Given the description of an element on the screen output the (x, y) to click on. 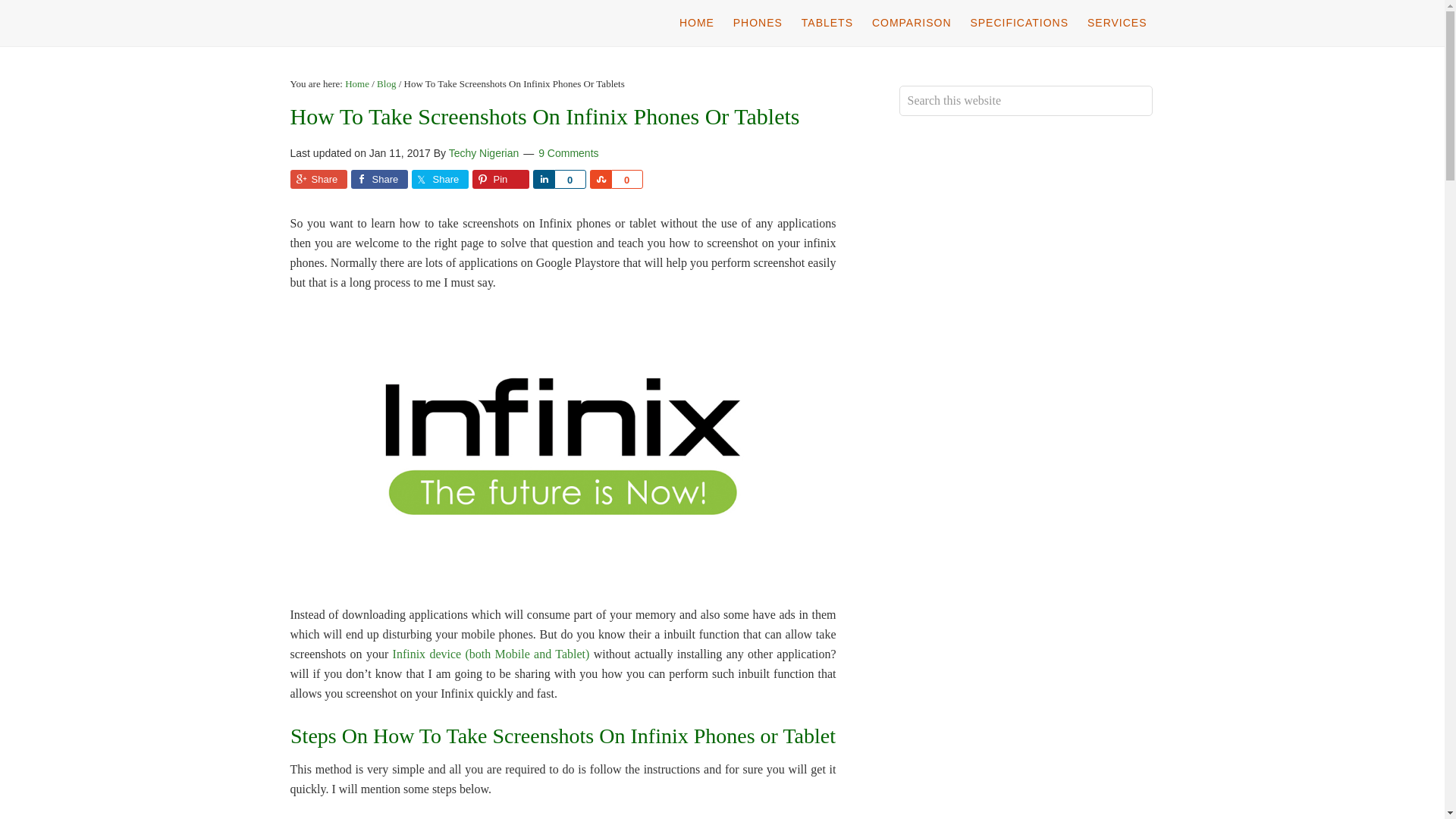
Share (317, 179)
0 (569, 179)
0 (627, 179)
Share (542, 179)
Home (357, 83)
Pin (499, 179)
SPECIFICATIONS NIGERIA (410, 22)
Blog (386, 83)
SPECIFICATIONS (1018, 22)
PHONES (757, 22)
TABLETS (826, 22)
COMPARISON (911, 22)
Share (600, 179)
Share (378, 179)
